Given the description of an element on the screen output the (x, y) to click on. 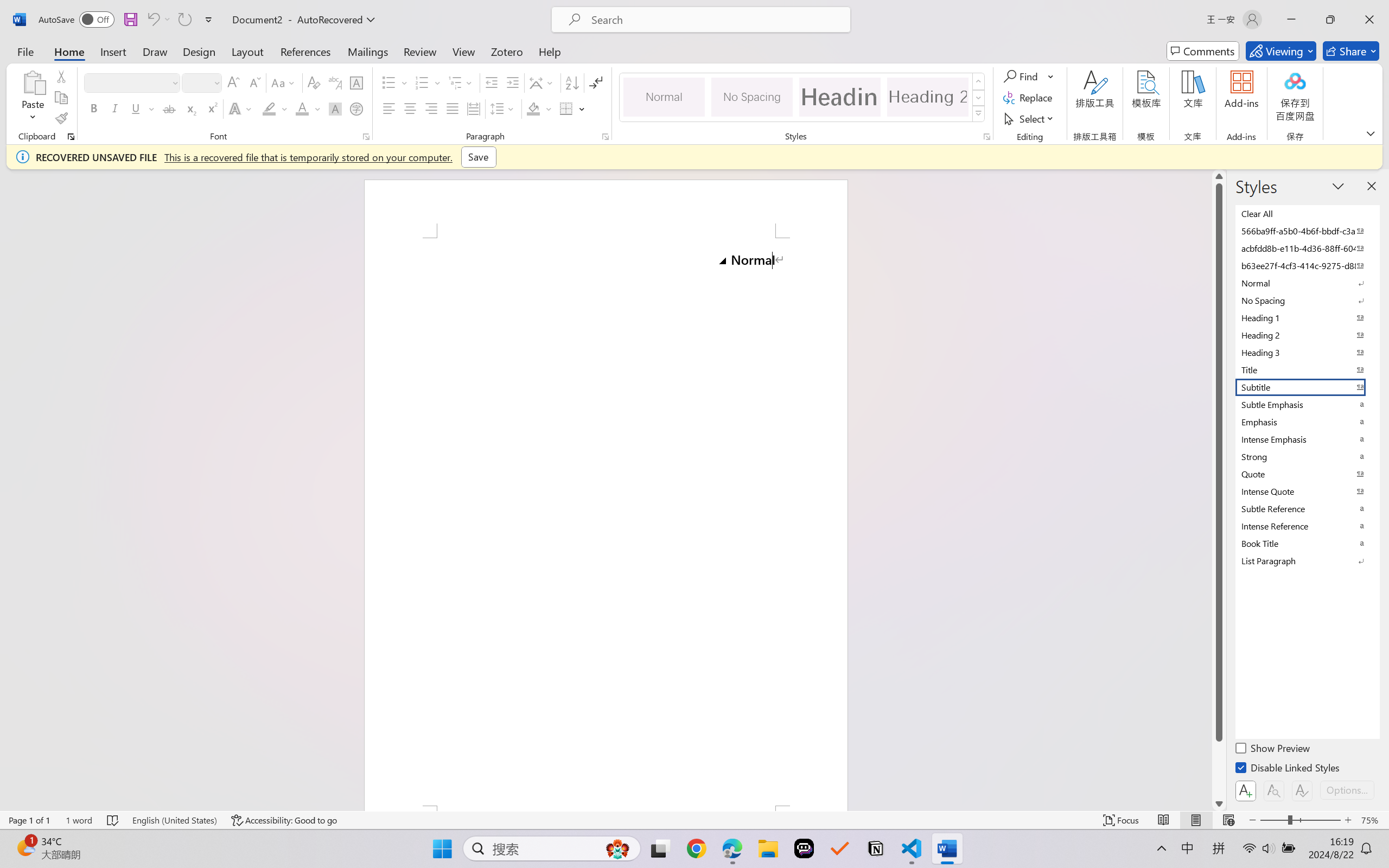
Line and Paragraph Spacing (503, 108)
Superscript (210, 108)
